Given the description of an element on the screen output the (x, y) to click on. 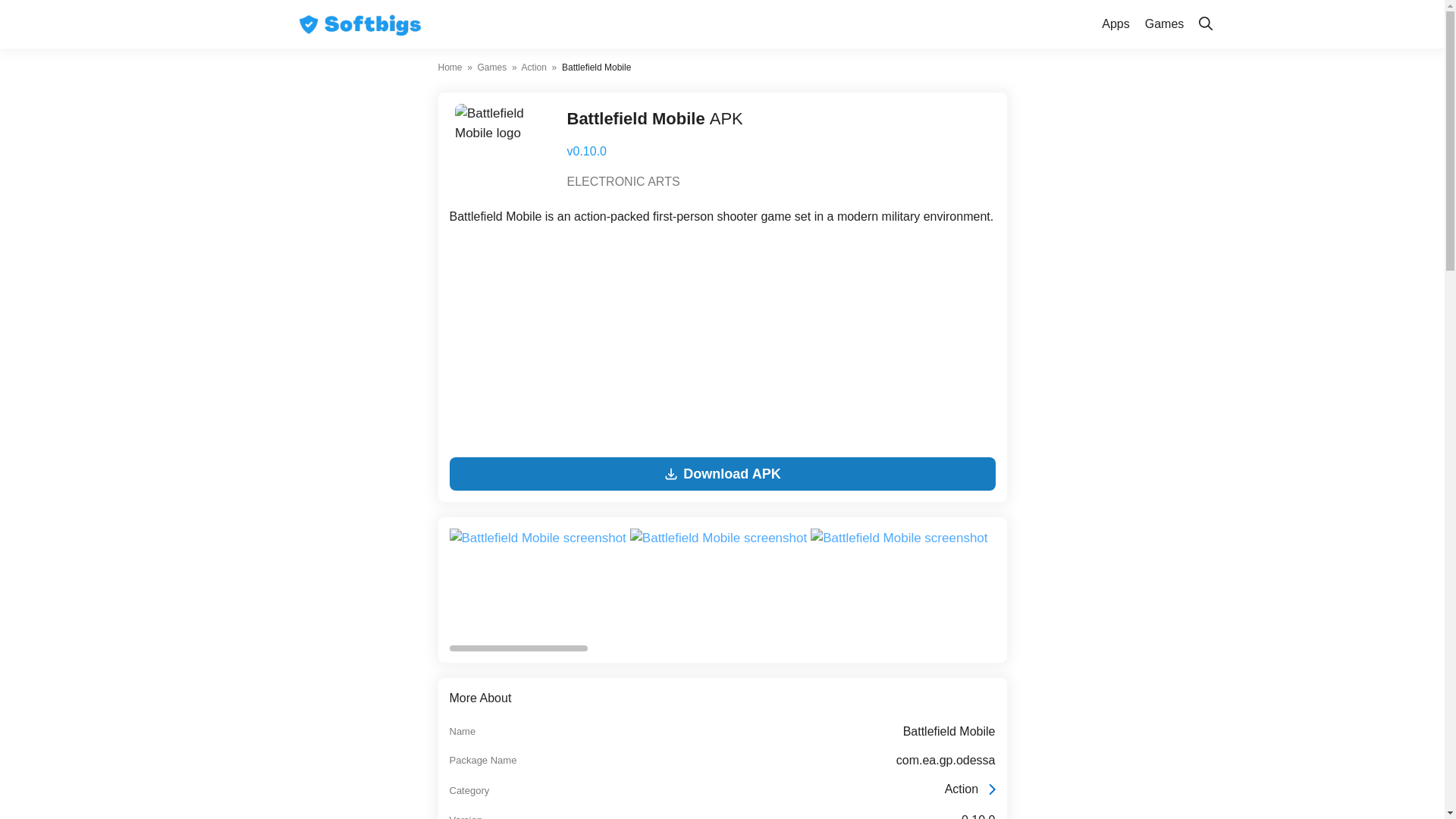
Action (534, 67)
Home (450, 67)
Battlefield Mobile screenshot (1105, 584)
Battlefield Mobile screenshot (718, 537)
Advertisement (721, 345)
Battlefield Mobile screenshot (720, 584)
Games (1164, 24)
Battlefield Mobile screenshot (900, 584)
Battlefield Mobile screenshot (538, 584)
Battlefield Mobile screenshot (898, 537)
Games (491, 67)
Download APK (721, 473)
Apps (1115, 24)
